Given the description of an element on the screen output the (x, y) to click on. 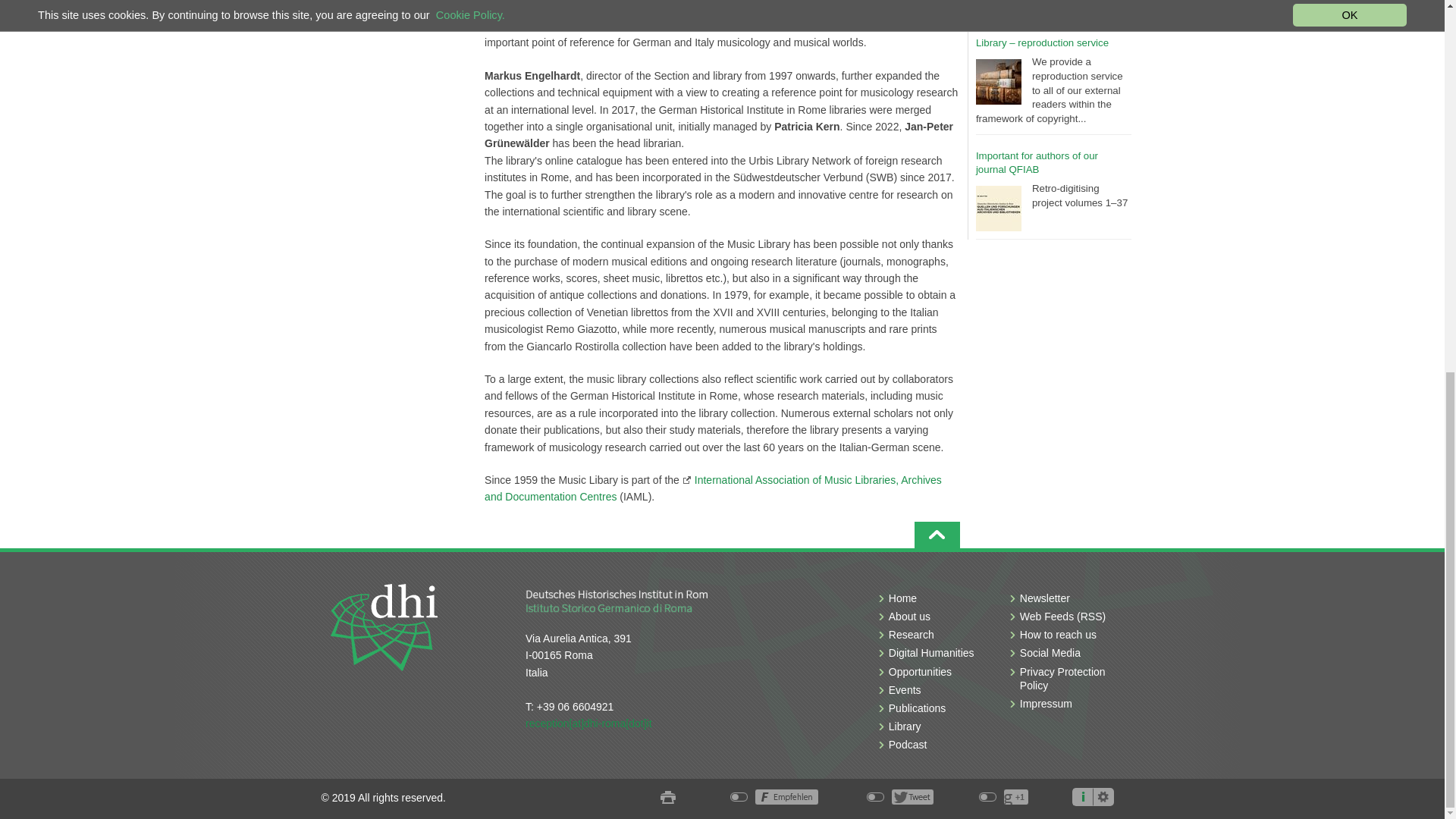
Important for authors of our journal QFIAB (1036, 162)
DHI Rom (384, 626)
Print page (668, 797)
to top (936, 534)
Opens internal link in current window (713, 488)
